Given the description of an element on the screen output the (x, y) to click on. 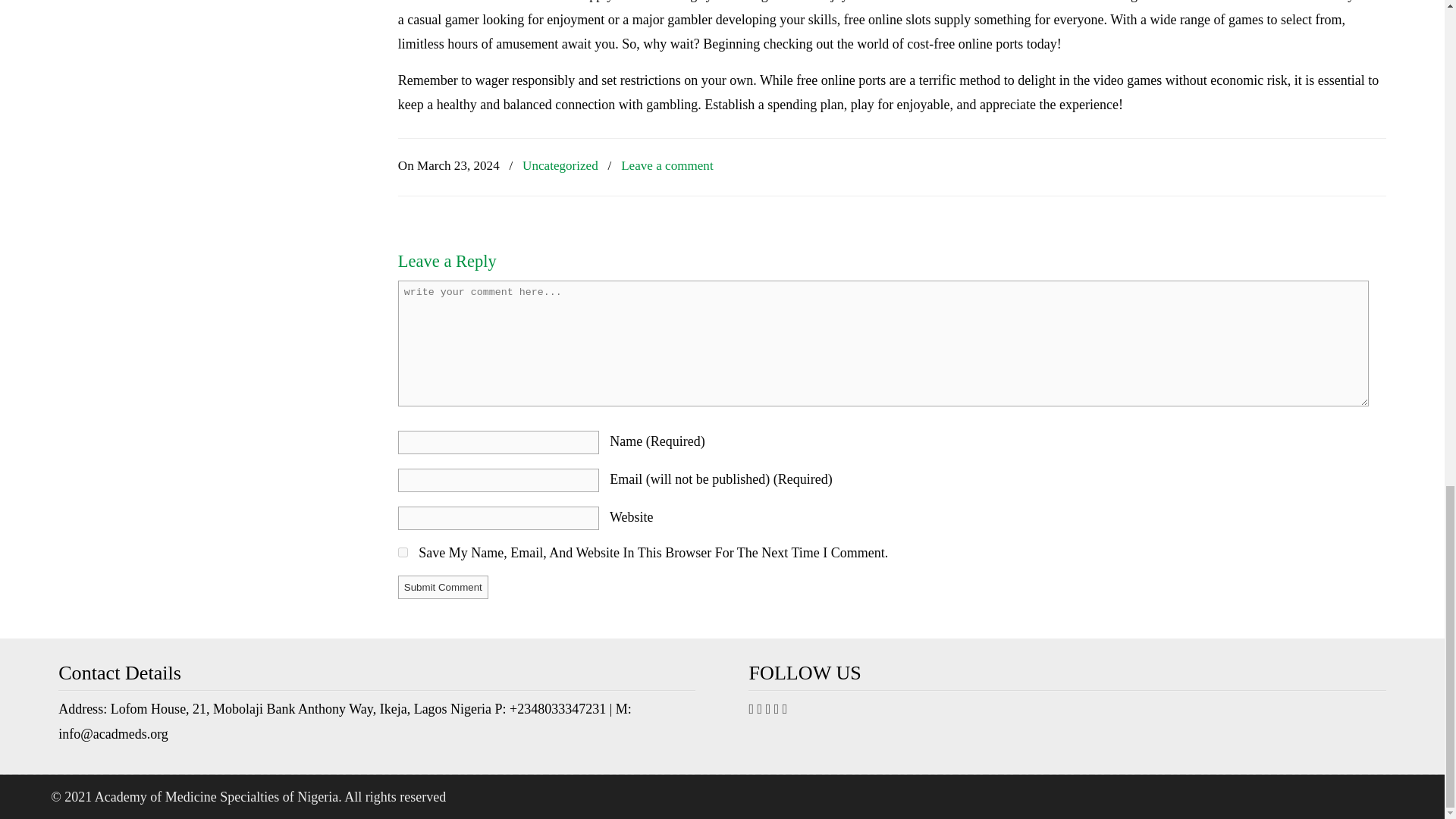
yes (402, 552)
Leave a comment (667, 166)
Submit Comment (442, 586)
Submit Comment (442, 586)
Uncategorized (560, 166)
